Given the description of an element on the screen output the (x, y) to click on. 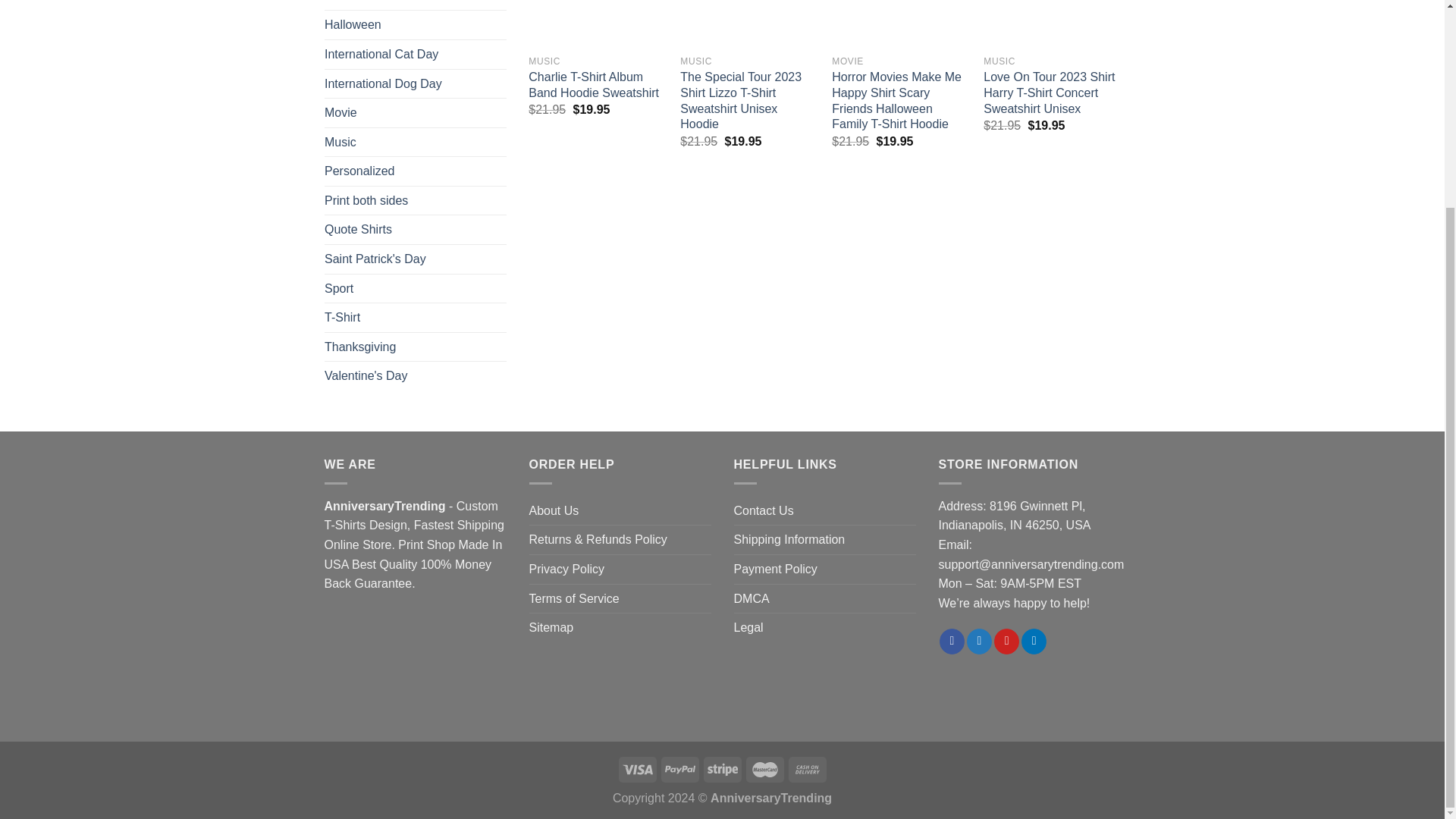
International Cat Day (415, 54)
T-Shirt (415, 317)
Follow on LinkedIn (1034, 641)
Follow on Facebook (951, 641)
Music (415, 141)
Print both sides (415, 200)
Halloween (415, 24)
Thanksgiving (415, 346)
Movie (415, 112)
International Dog Day (415, 82)
